Given the description of an element on the screen output the (x, y) to click on. 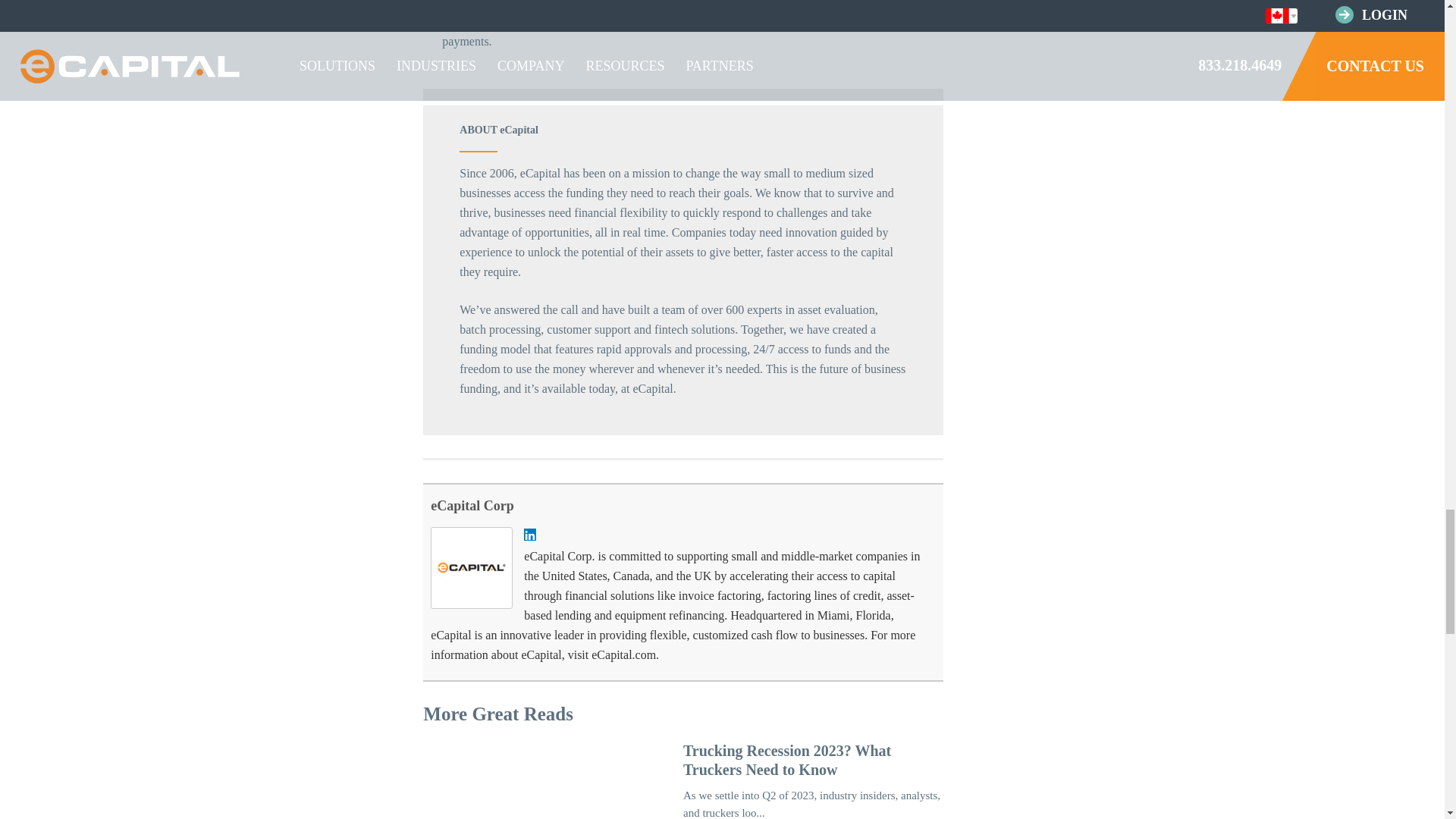
eCapital Corp (471, 505)
